Given the description of an element on the screen output the (x, y) to click on. 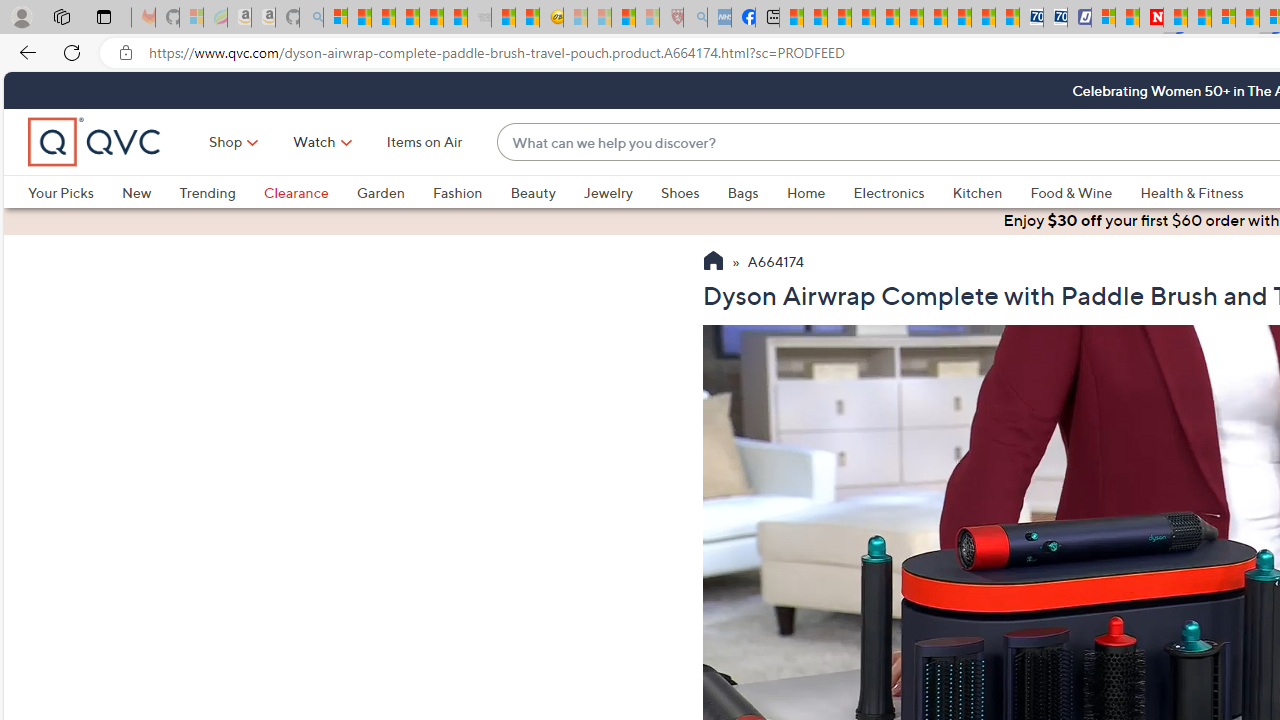
Fashion (471, 192)
New Report Confirms 2023 Was Record Hot | Watch (430, 17)
Garden (393, 192)
Beauty (532, 192)
Kitchen (977, 192)
Latest Politics News & Archive | Newsweek.com (1151, 17)
Your Picks (74, 192)
Items on Air (424, 141)
Trending (207, 192)
